Given the description of an element on the screen output the (x, y) to click on. 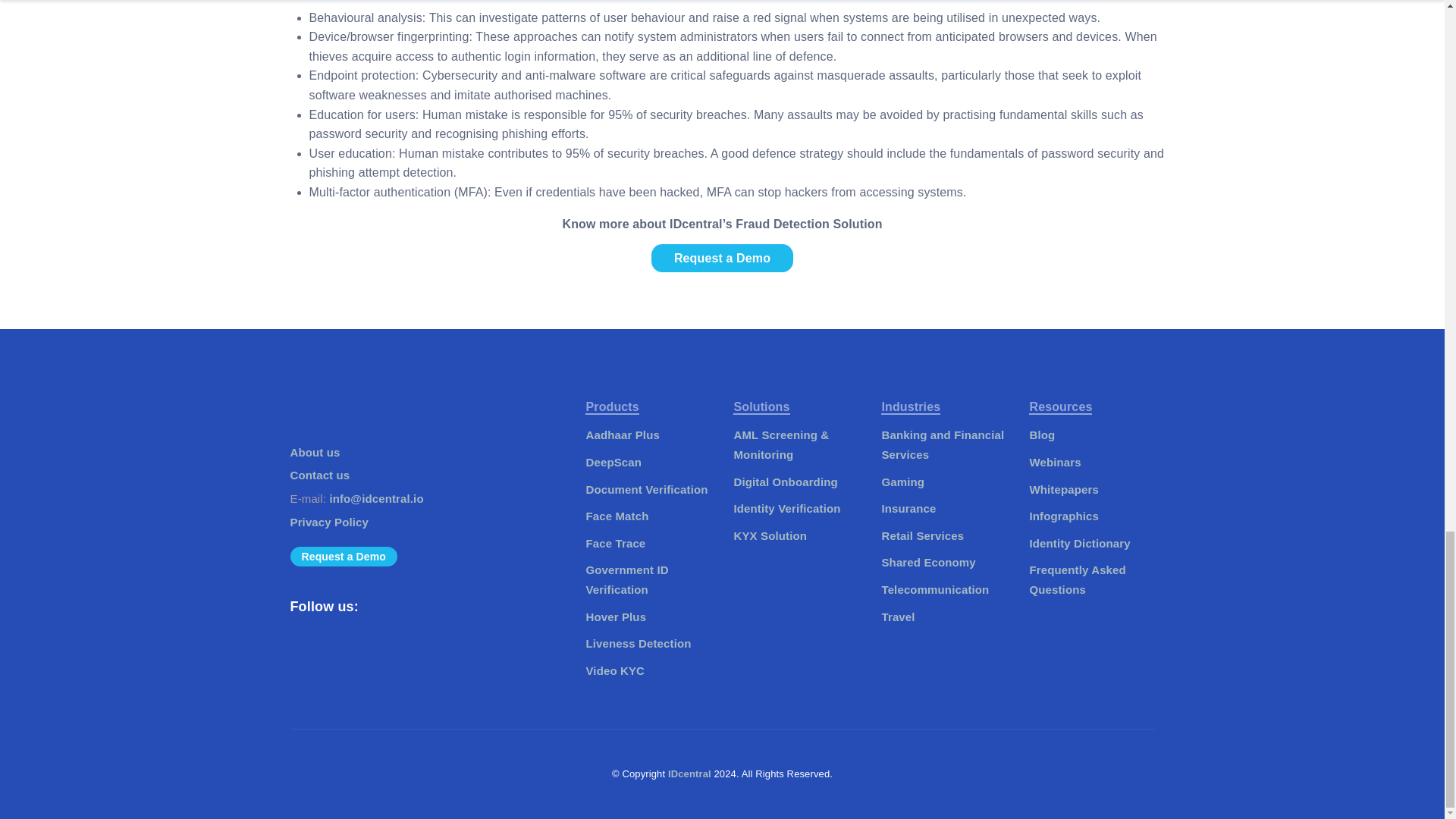
Try Now! (721, 257)
